Given the description of an element on the screen output the (x, y) to click on. 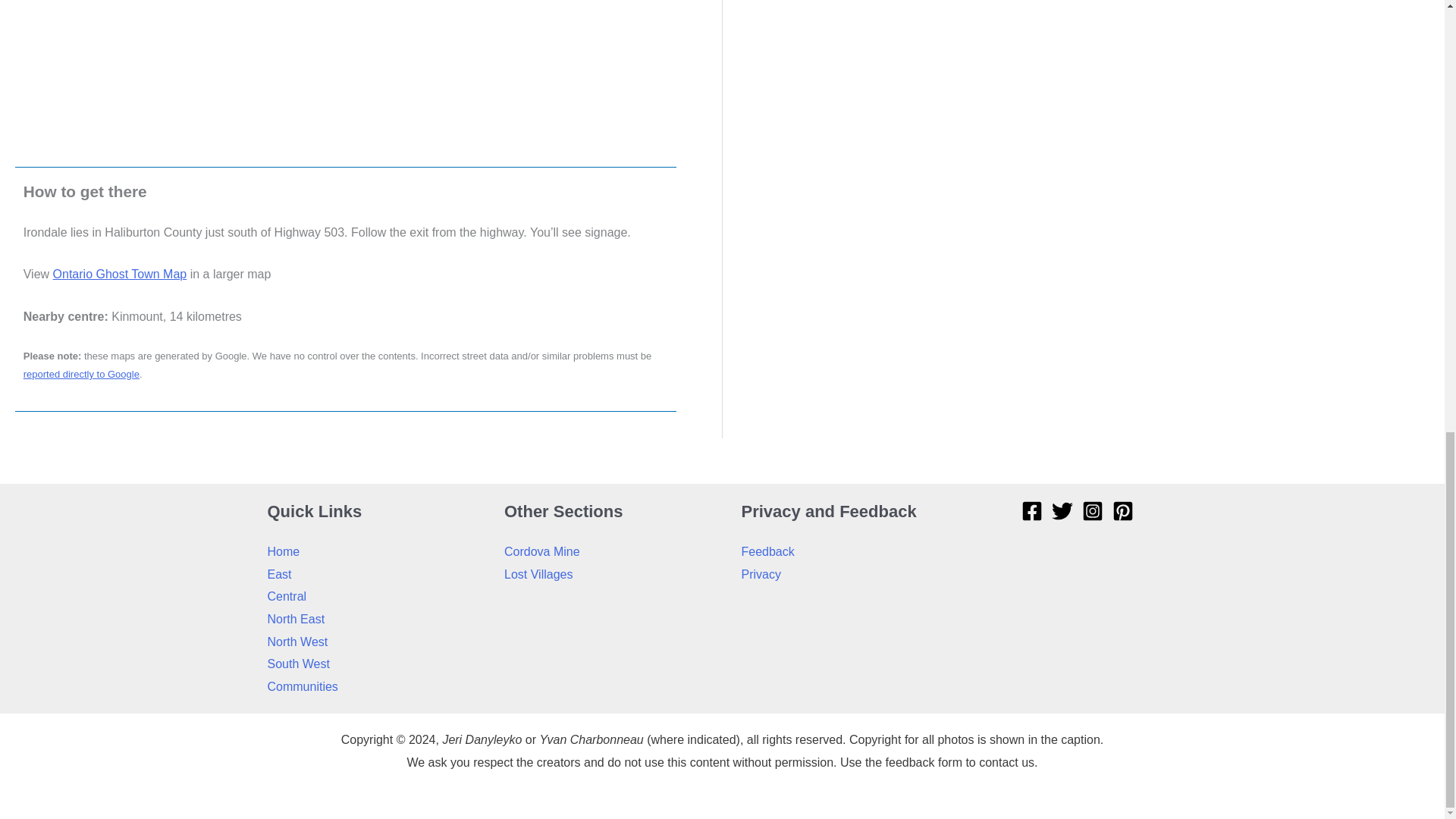
East (278, 574)
Ontario Ghost Town Map (119, 273)
reported directly to Google (81, 374)
Home (282, 551)
Central (285, 595)
